Given the description of an element on the screen output the (x, y) to click on. 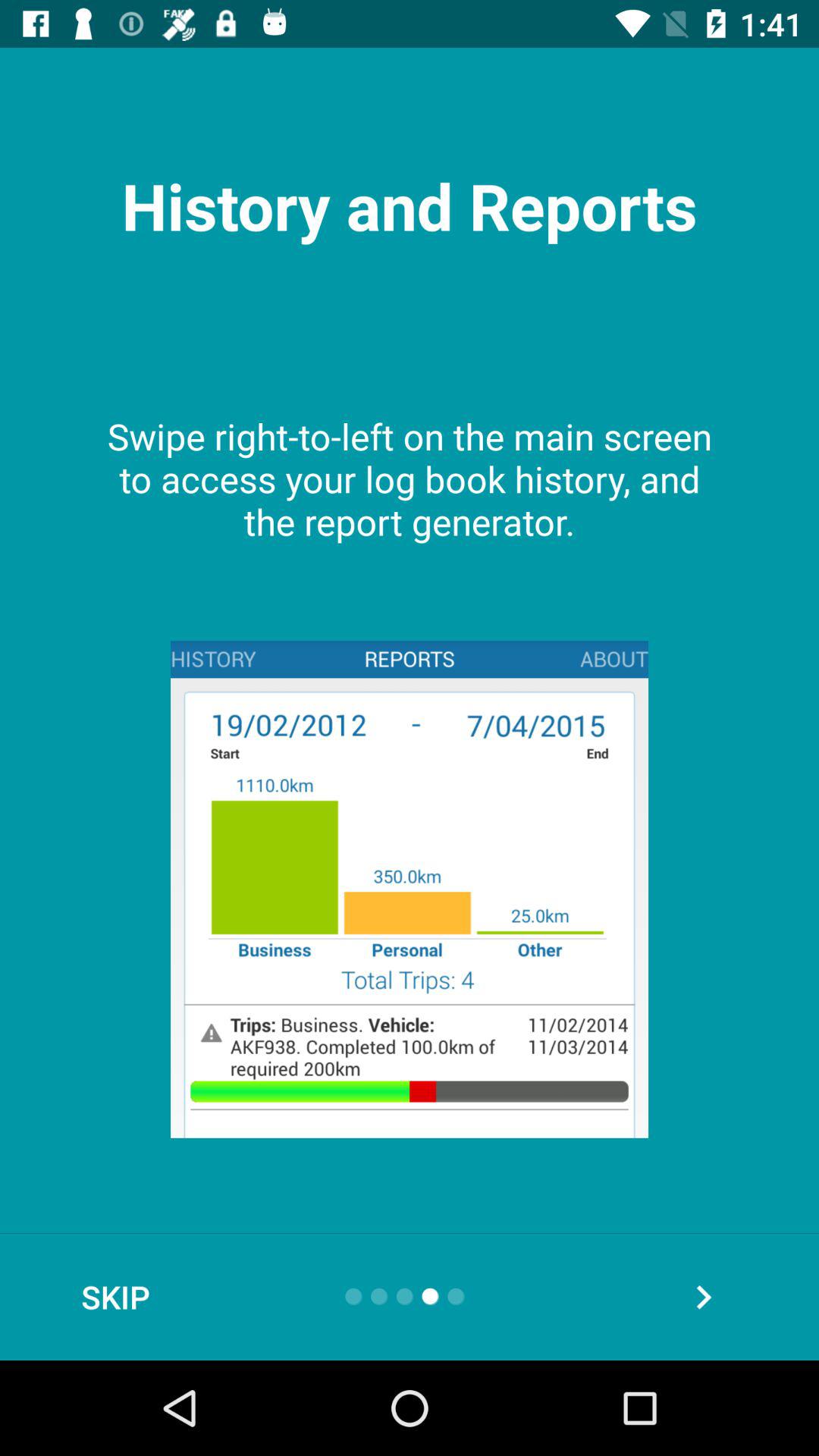
go to next page (703, 1296)
